Given the description of an element on the screen output the (x, y) to click on. 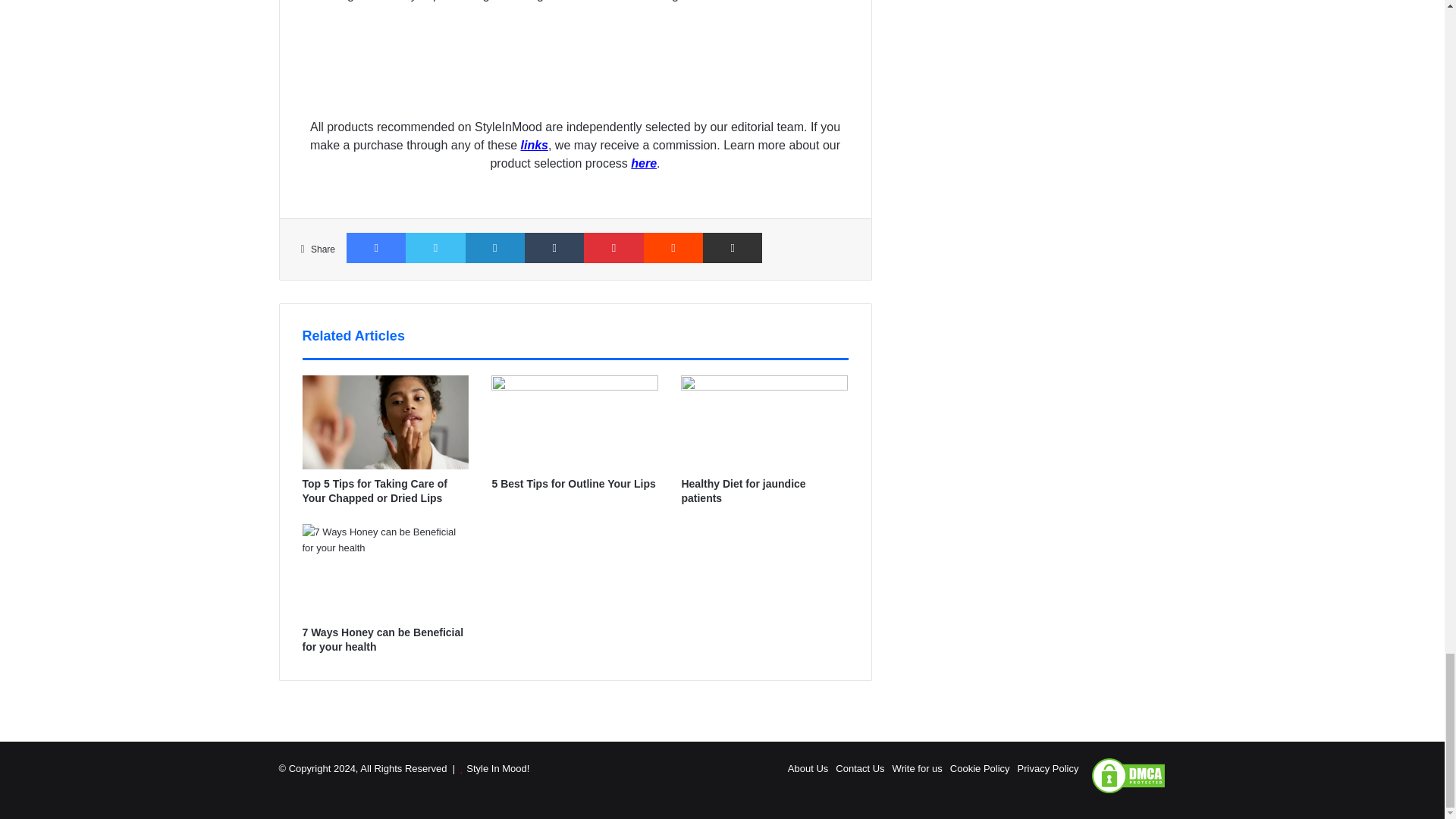
Facebook (376, 247)
Tumblr (553, 247)
LinkedIn (494, 247)
links (533, 144)
here (643, 163)
Twitter (435, 247)
Pinterest (613, 247)
Reddit (673, 247)
